Given the description of an element on the screen output the (x, y) to click on. 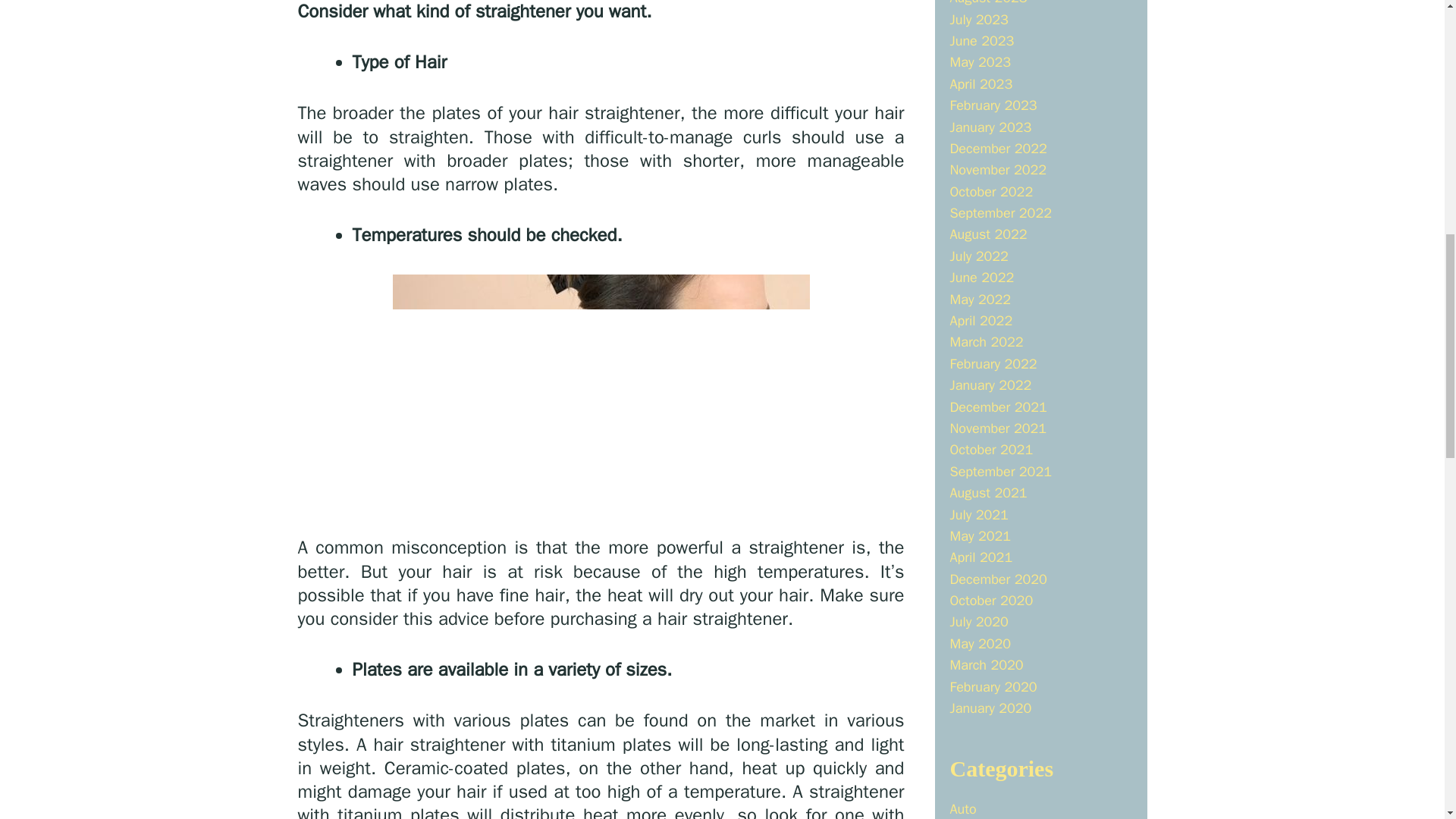
November 2022 (997, 169)
January 2023 (989, 126)
August 2023 (987, 2)
May 2023 (979, 62)
April 2023 (980, 84)
July 2023 (978, 19)
June 2023 (981, 40)
December 2022 (997, 148)
February 2023 (992, 105)
